Given the description of an element on the screen output the (x, y) to click on. 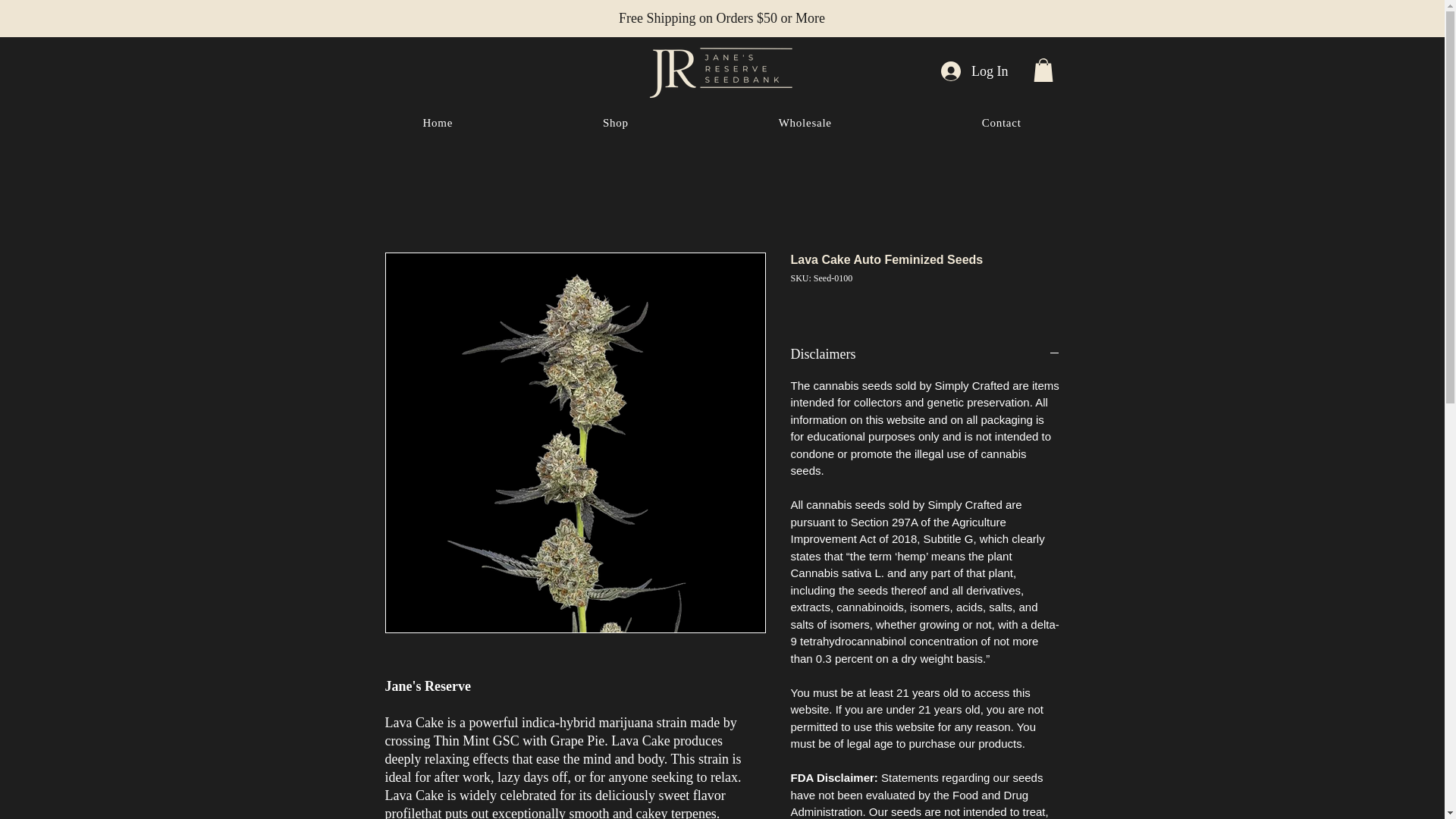
Shop (615, 122)
Log In (974, 70)
Disclaimers (924, 353)
Contact (721, 122)
Wholesale (1001, 122)
Home (805, 122)
